Given the description of an element on the screen output the (x, y) to click on. 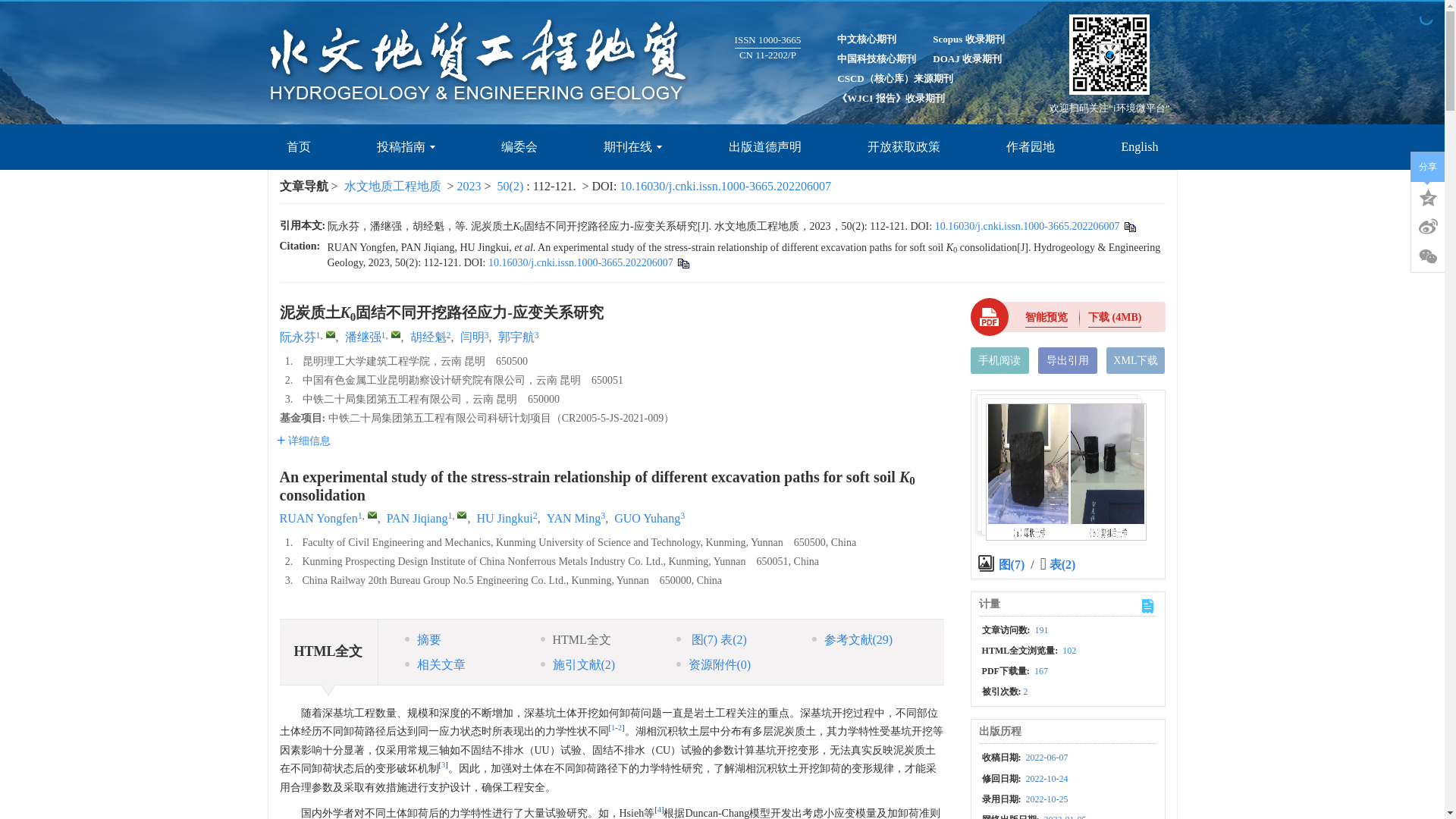
English (1139, 146)
copy to clipboard (682, 262)
